Given the description of an element on the screen output the (x, y) to click on. 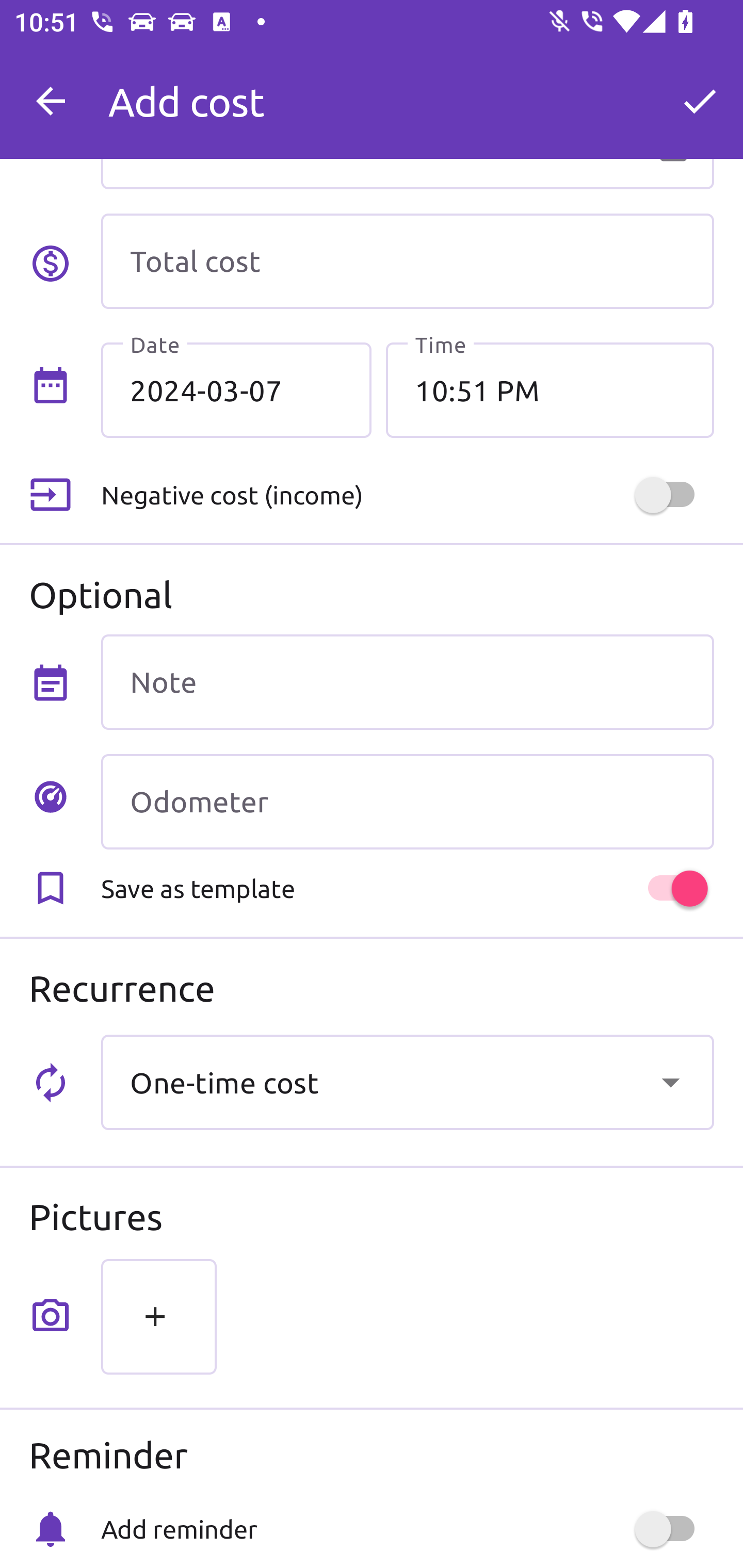
M My Car 0 km (407, 92)
Navigate up (50, 101)
OK (699, 101)
Total cost  (407, 260)
2024-03-07 (236, 389)
10:51 PM (549, 389)
Negative cost (income) (407, 494)
Note (407, 682)
Odometer (407, 801)
Save as template (407, 887)
One-time cost (407, 1082)
Show dropdown menu (670, 1081)
Add reminder (407, 1529)
